Given the description of an element on the screen output the (x, y) to click on. 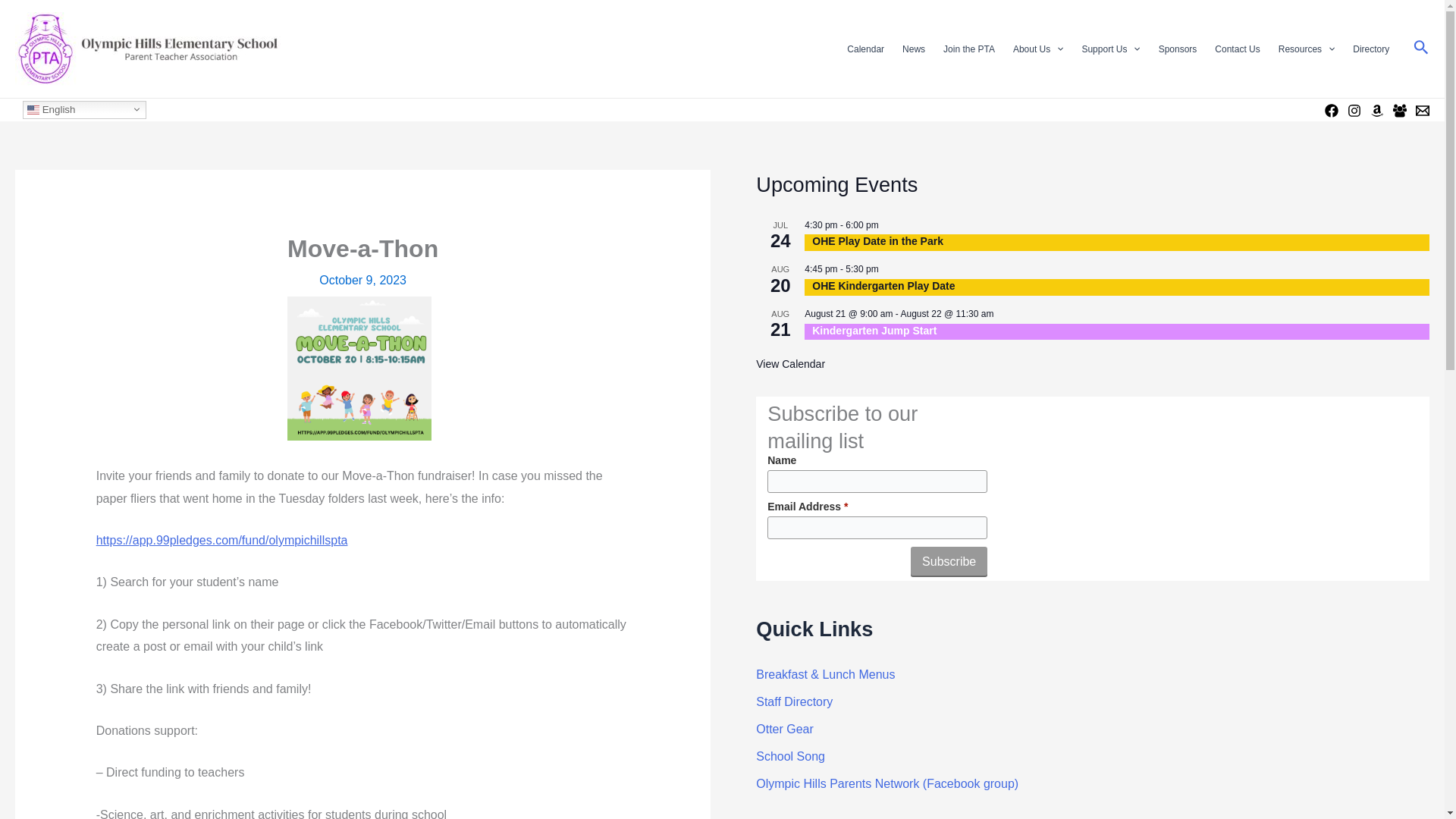
Join the PTA (969, 48)
About Us (1038, 48)
Resources (1306, 48)
Support Us (1109, 48)
Subscribe (949, 562)
